Given the description of an element on the screen output the (x, y) to click on. 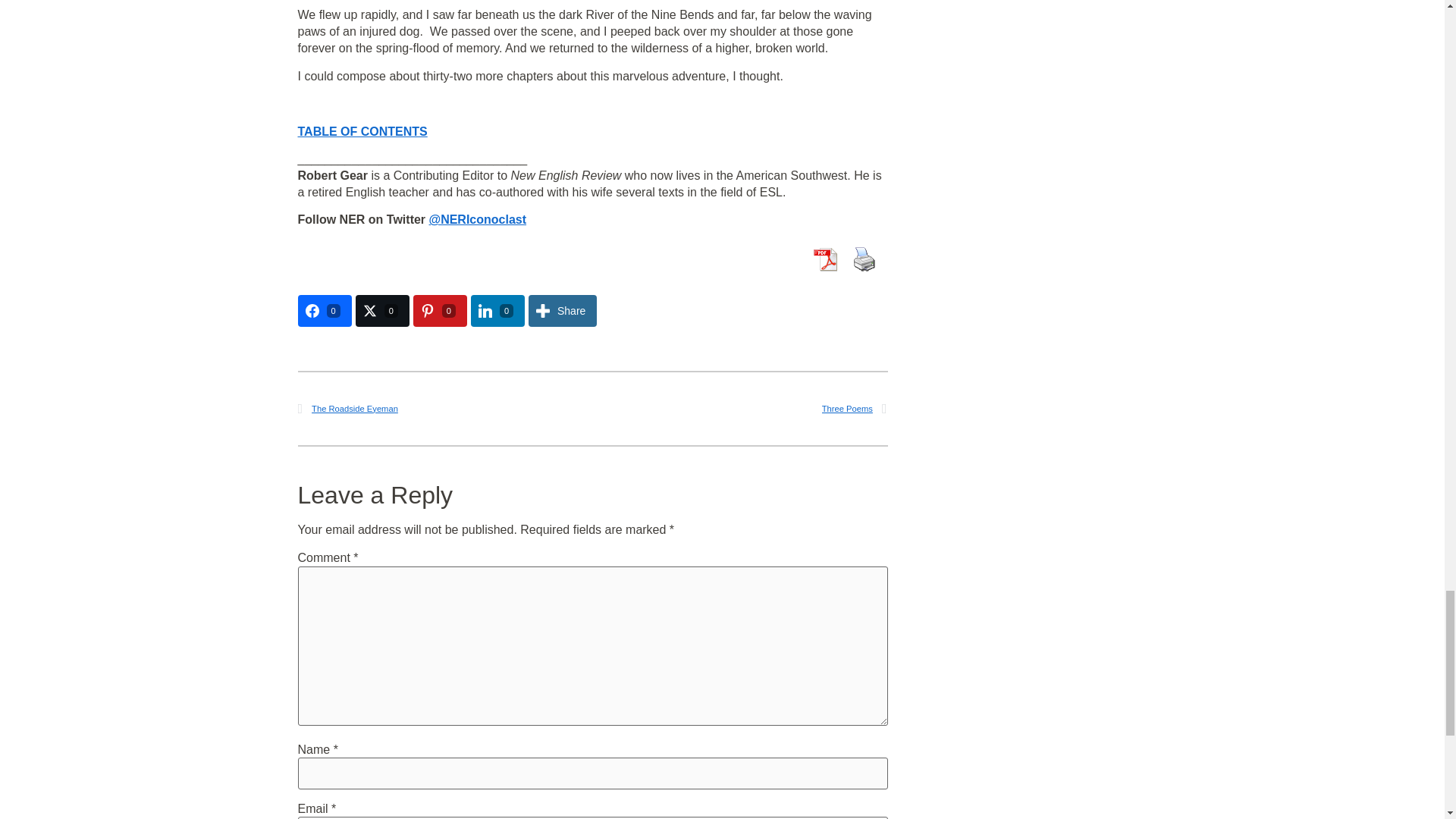
Share on Pinterest (440, 310)
Print Content (863, 259)
TABLE OF CONTENTS (361, 131)
Share on Facebook (323, 310)
0 (382, 310)
0 (323, 310)
Share on LinkedIn (497, 310)
Share on Share (562, 310)
Share on Twitter (382, 310)
View PDF (824, 259)
